Given the description of an element on the screen output the (x, y) to click on. 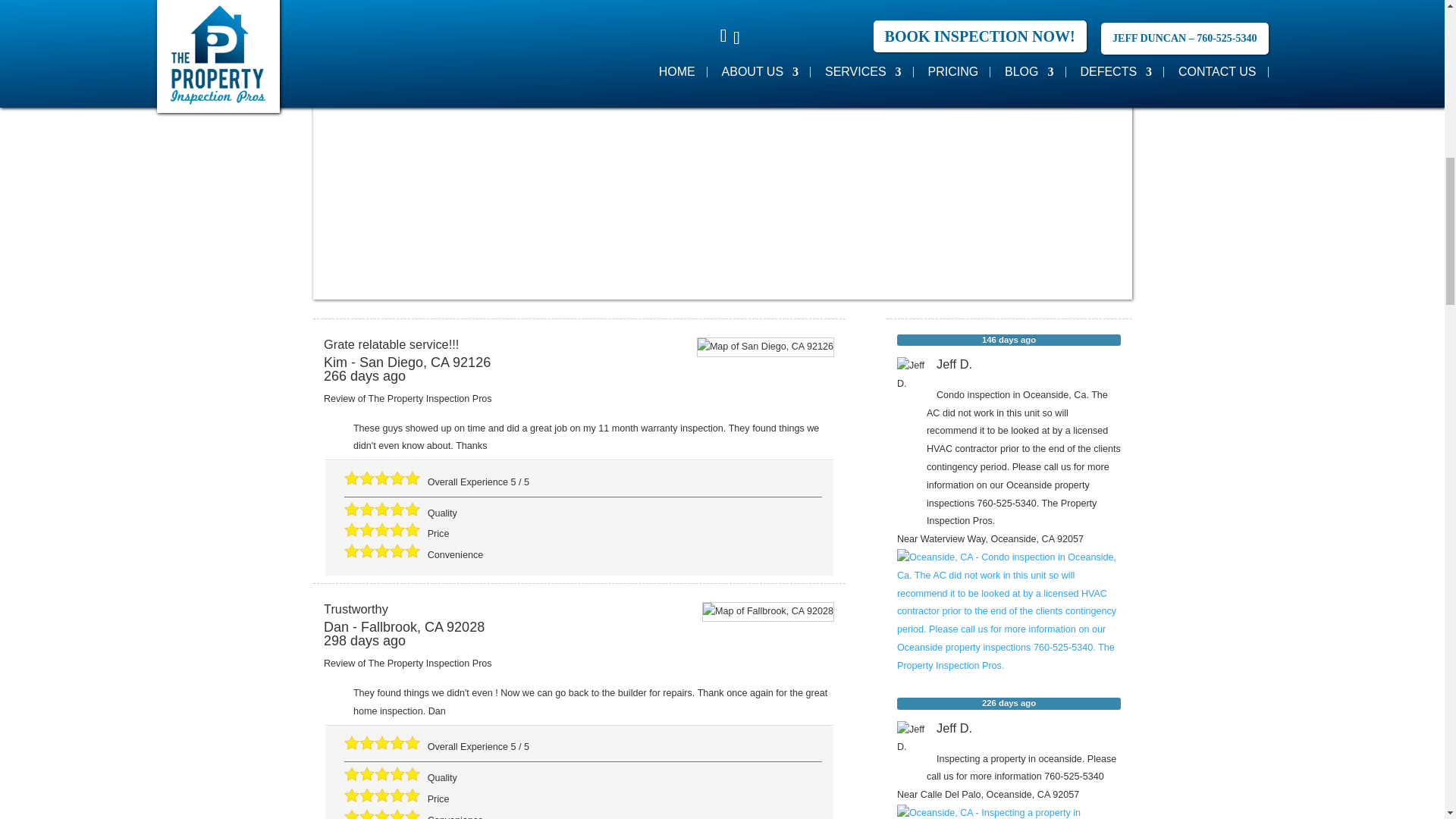
Jeff D. (911, 372)
Jeff D. (911, 736)
